Given the description of an element on the screen output the (x, y) to click on. 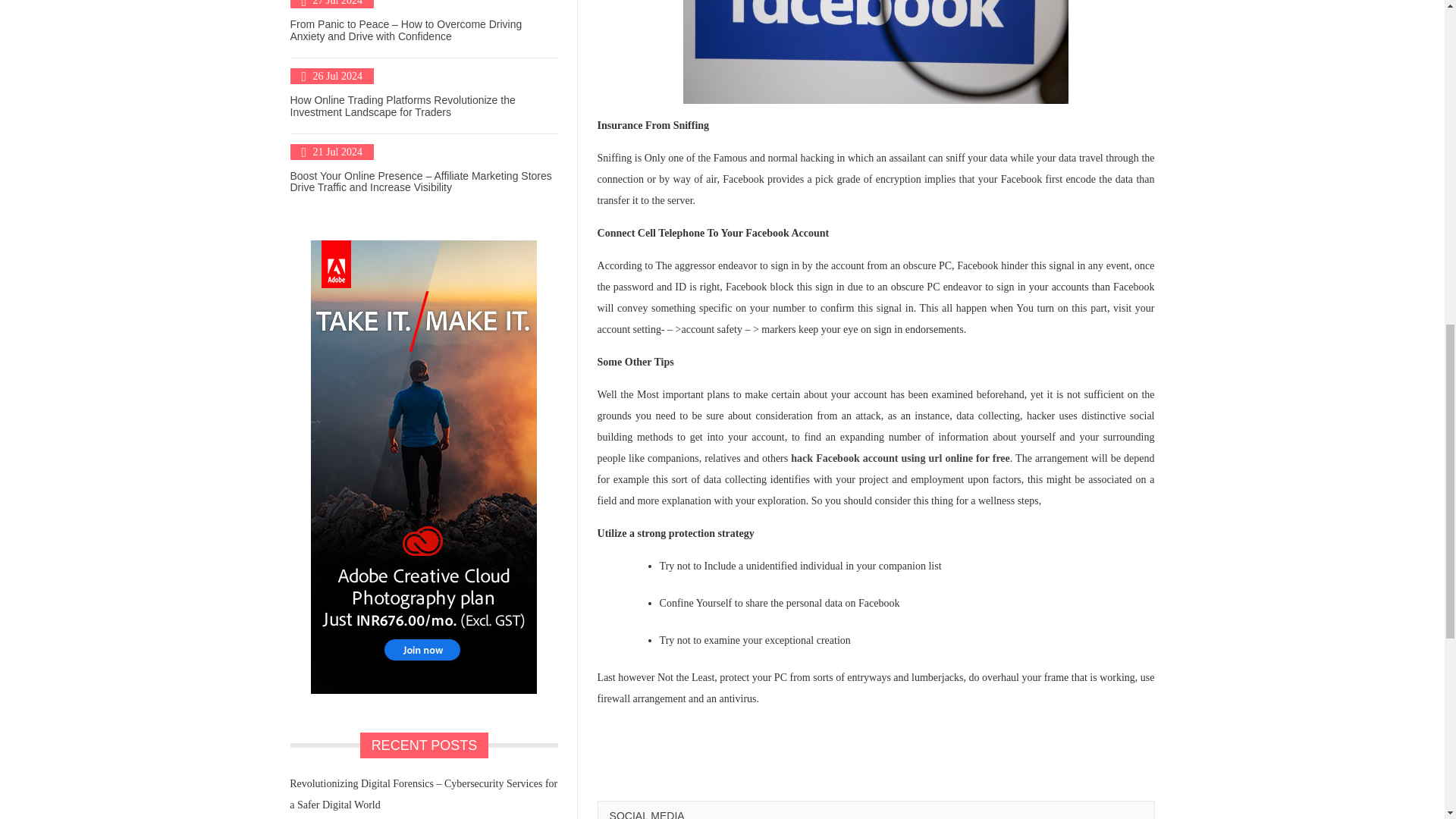
hack Facebook account using url online for free (899, 458)
SOCIAL MEDIA (647, 814)
